Given the description of an element on the screen output the (x, y) to click on. 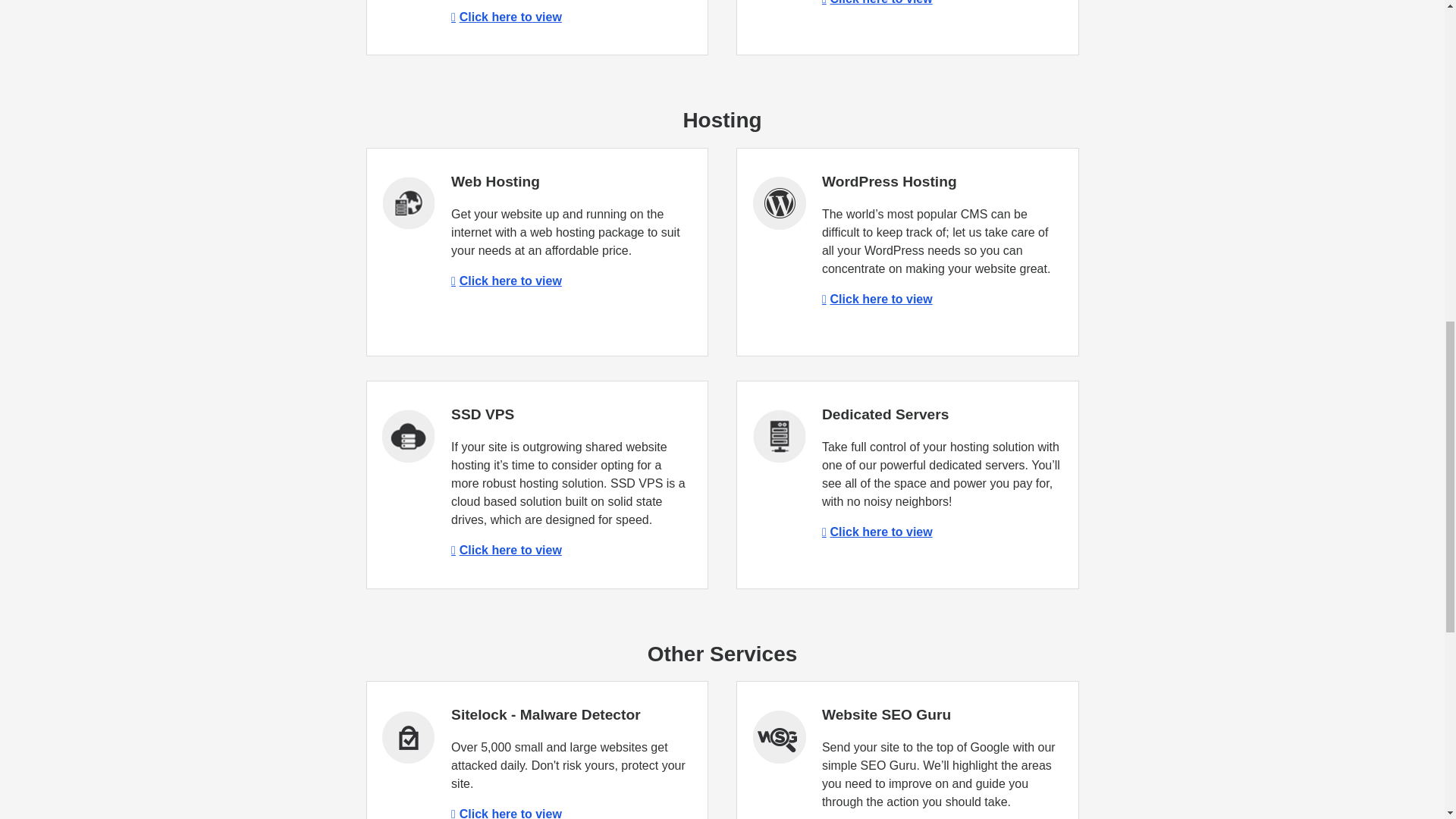
Click here to view (877, 531)
Click here to view (506, 549)
Click here to view (506, 813)
Click here to view (506, 16)
Click here to view (506, 280)
Click here to view (877, 2)
Click here to view (877, 298)
